Given the description of an element on the screen output the (x, y) to click on. 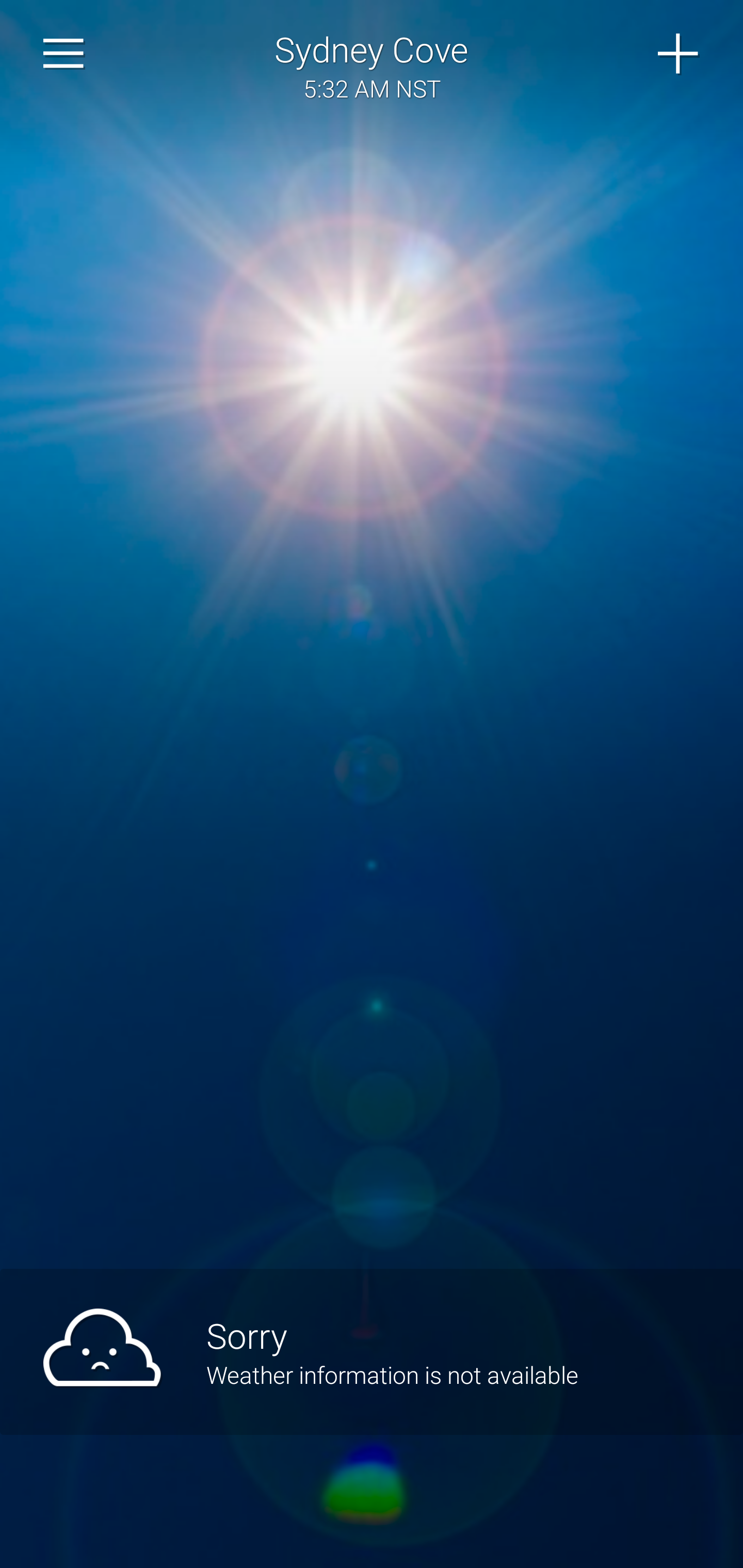
Sidebar (64, 54)
Add City (678, 53)
